Given the description of an element on the screen output the (x, y) to click on. 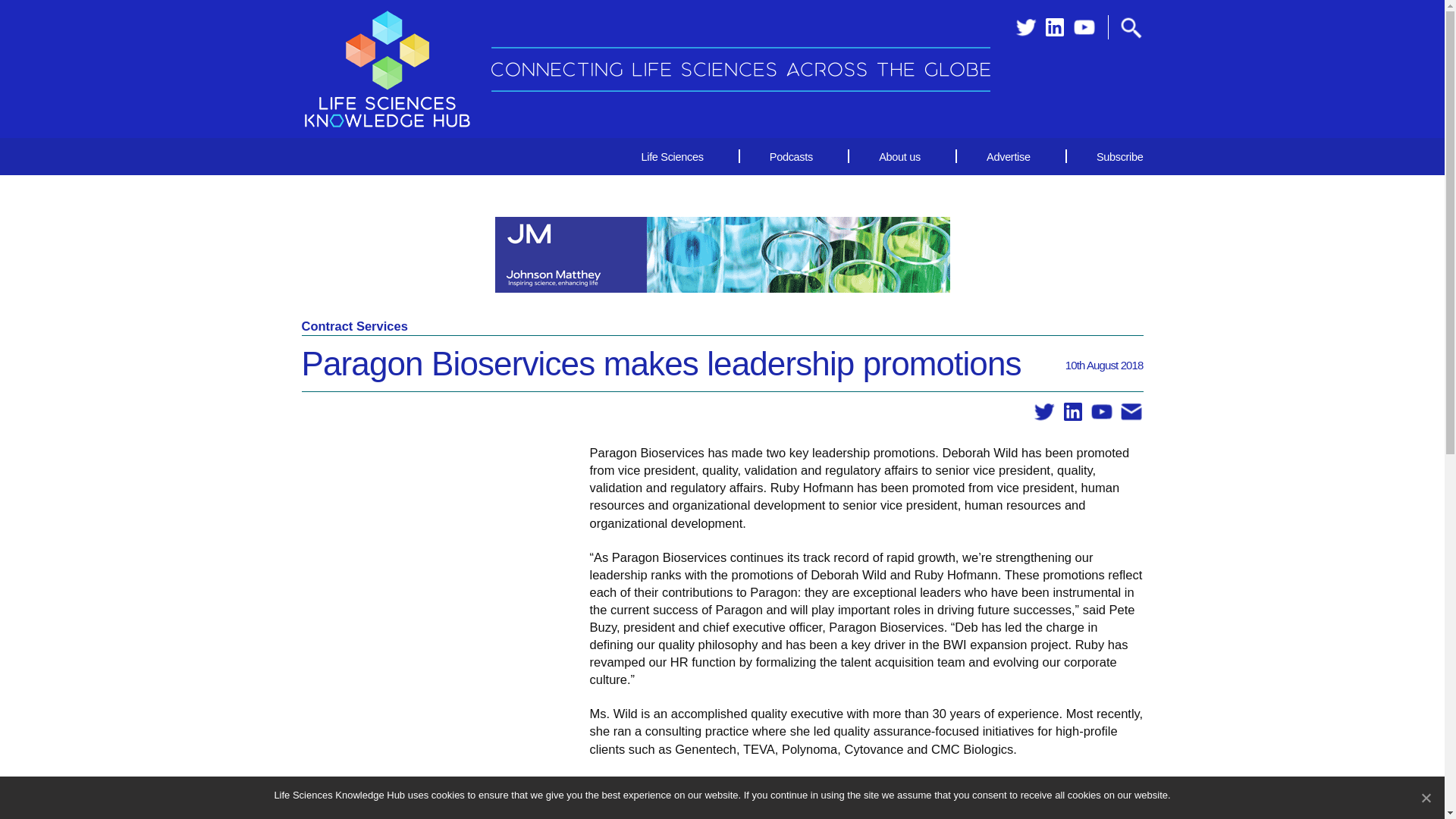
Podcasts (791, 156)
Events List 2024 (1346, 798)
About us (899, 156)
Linkedin (1054, 27)
email (1130, 412)
youtube (1083, 27)
twitter (1025, 27)
linkedin (1072, 412)
twitter (1044, 412)
Advertise (1008, 156)
